Given the description of an element on the screen output the (x, y) to click on. 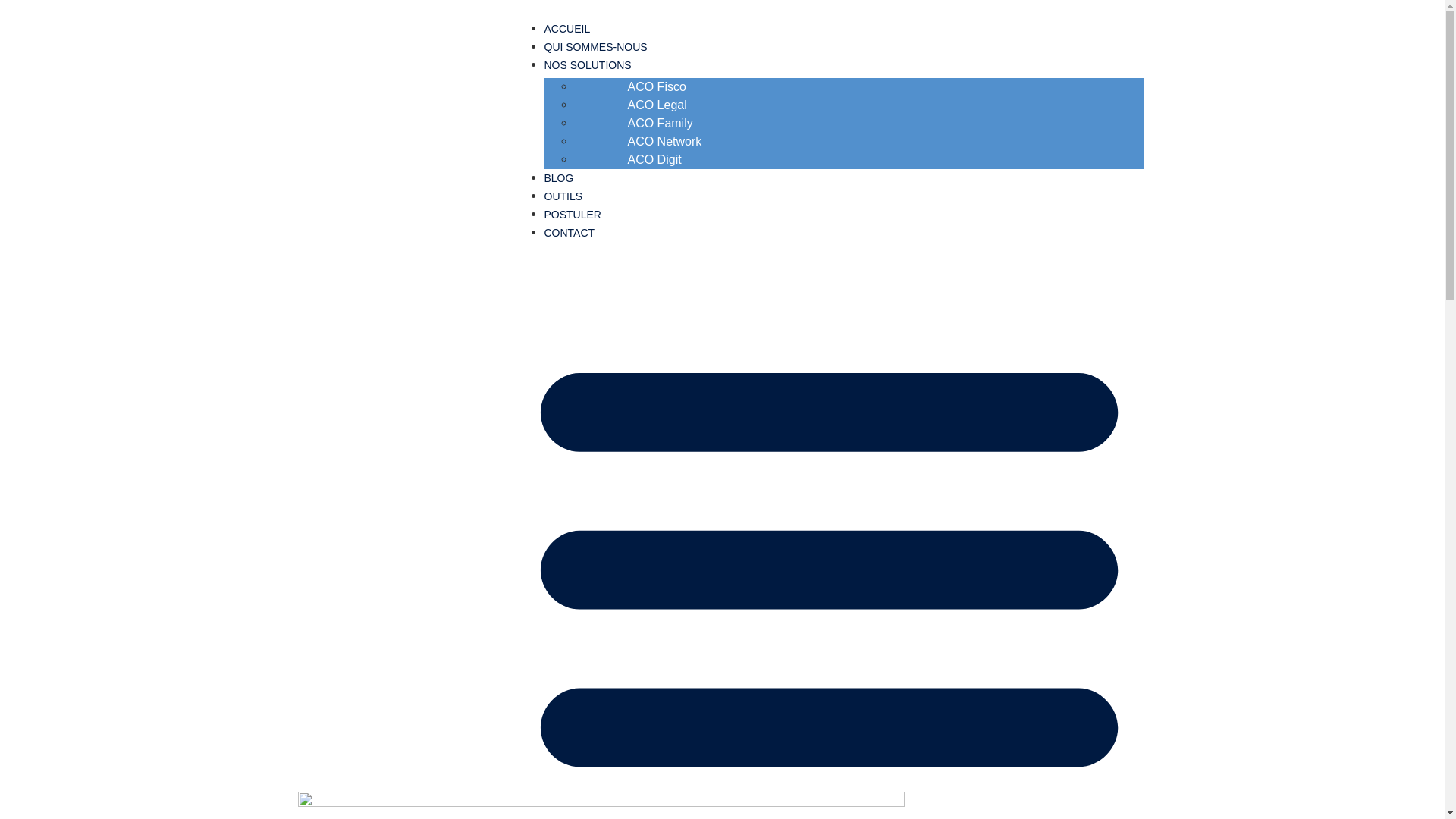
NOS SOLUTIONS Element type: text (587, 65)
ACCUEIL Element type: text (567, 28)
ACO Network Element type: text (664, 141)
CONTACT Element type: text (569, 232)
QUI SOMMES-NOUS Element type: text (595, 46)
ACO Family Element type: text (660, 123)
ACO Legal Element type: text (657, 104)
POSTULER Element type: text (572, 214)
BLOG Element type: text (559, 178)
ACO Fisco Element type: text (656, 86)
OUTILS Element type: text (563, 196)
ACO Digit Element type: text (654, 159)
